Given the description of an element on the screen output the (x, y) to click on. 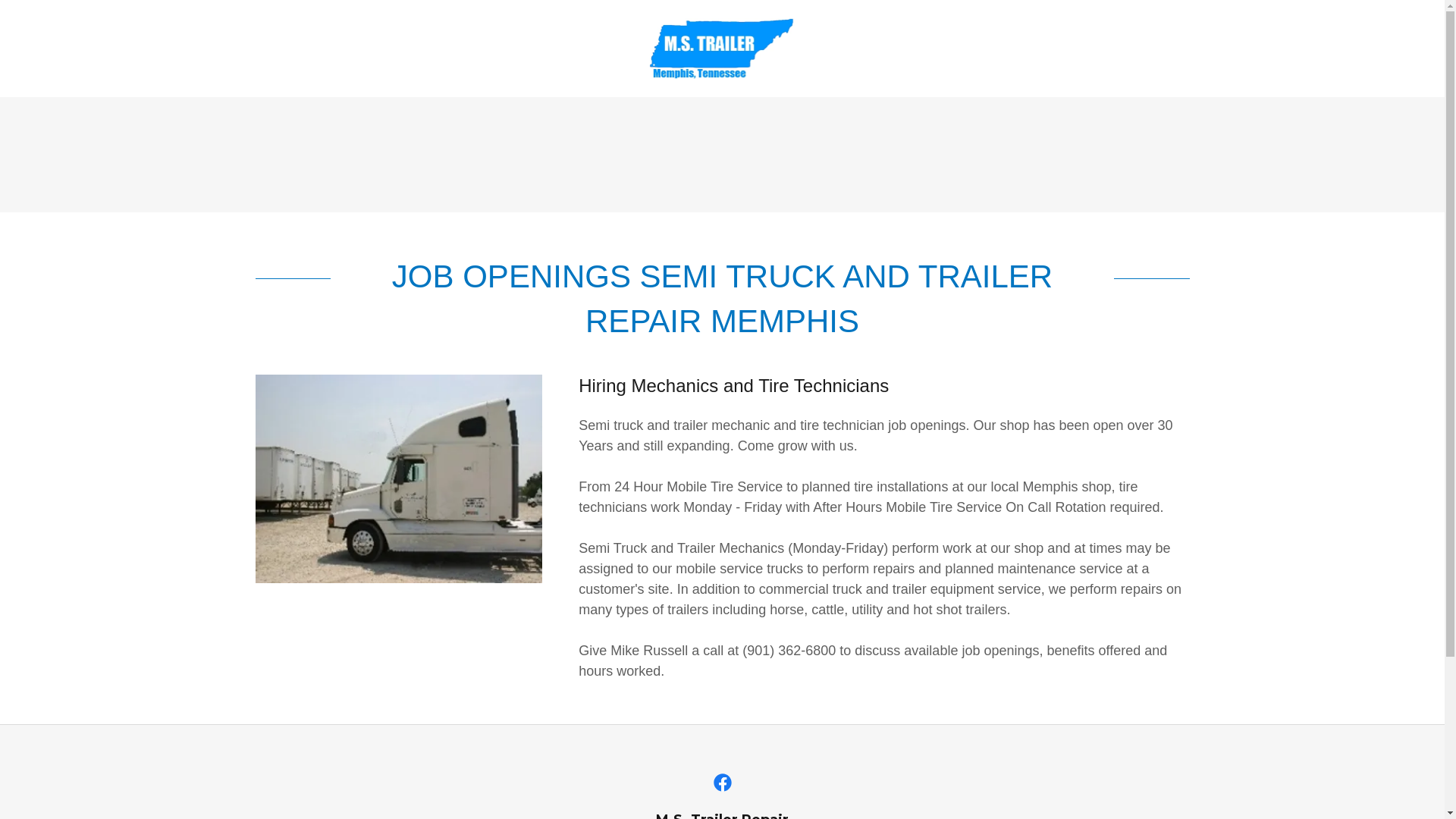
M.S. Trailer Repair Element type: hover (722, 47)
